Given the description of an element on the screen output the (x, y) to click on. 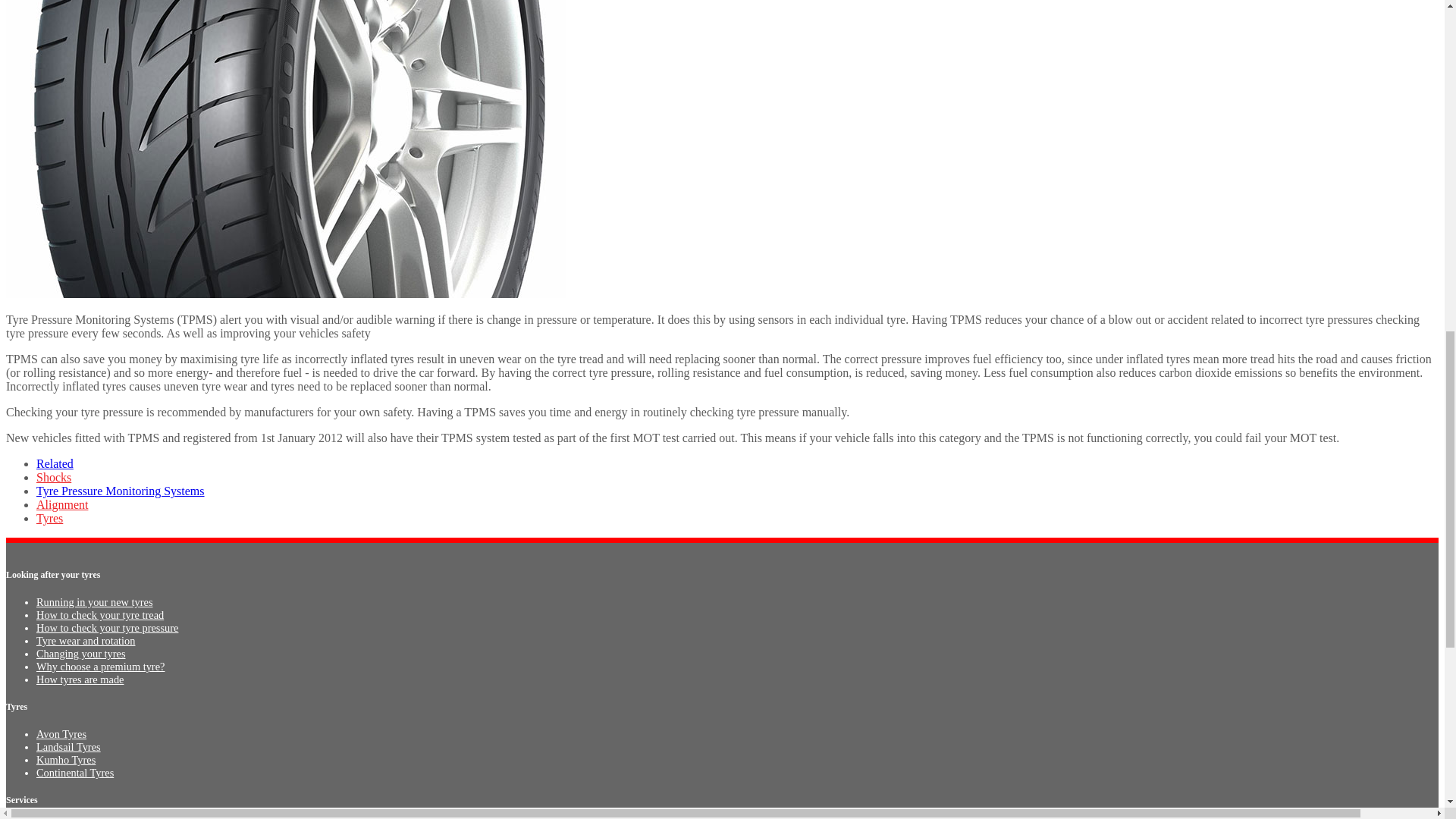
Landsail Tyres Oldbury (68, 746)
Kumho Tyres Oldbury (66, 759)
Avon Tyres Oldbury (60, 734)
Tyre Pressure Monitoring Systems (120, 490)
Shocks (53, 477)
Continental Tyres Oldbury (74, 772)
Related (55, 463)
